Given the description of an element on the screen output the (x, y) to click on. 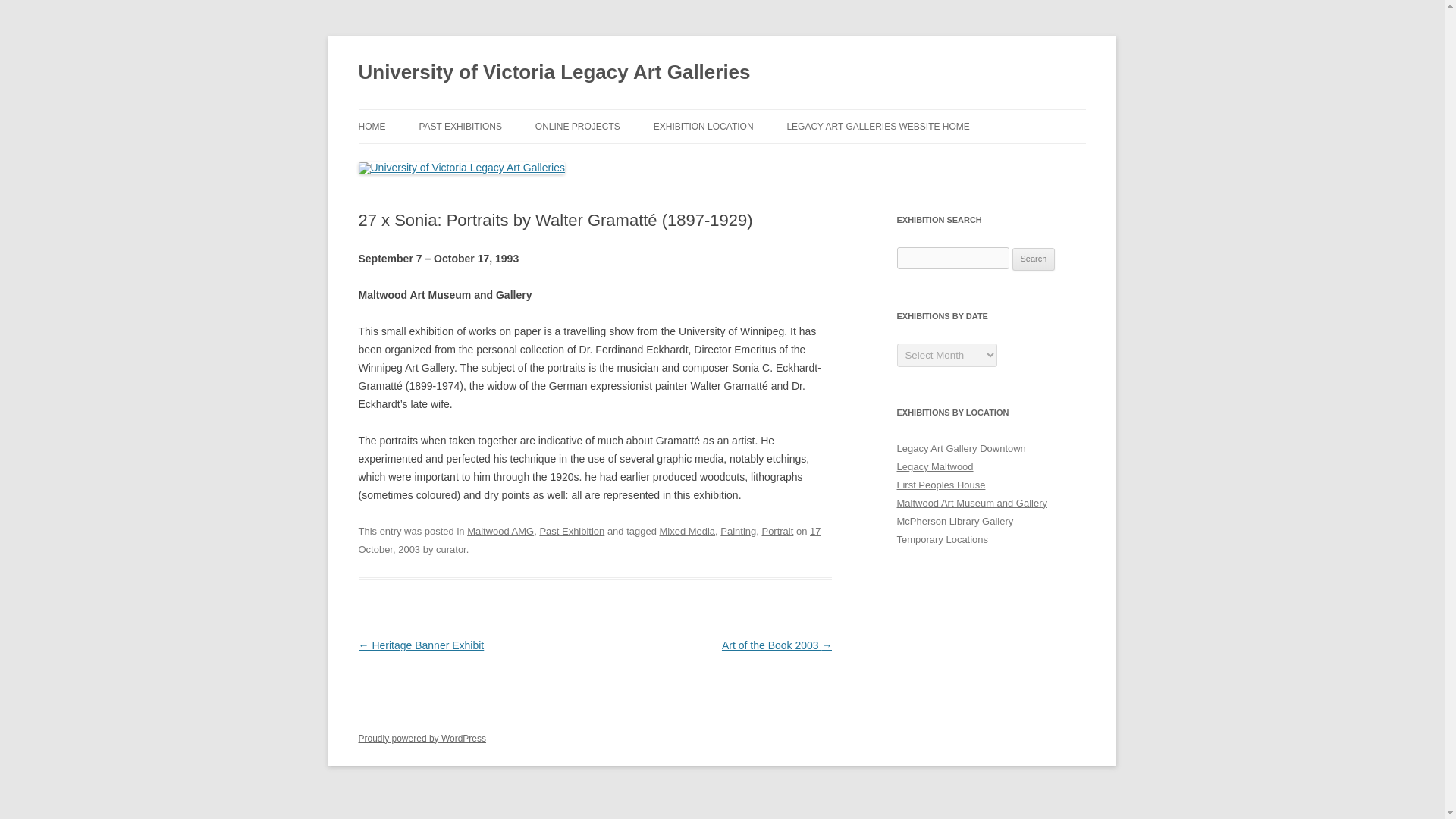
View all posts by curator (450, 549)
11:07 am (589, 540)
LEGACY ART GALLERIES WEBSITE HOME (877, 126)
University of Victoria Legacy Art Galleries (553, 72)
Legacy Art Gallery Downtown (960, 448)
Past Exhibition (571, 531)
First Peoples House (940, 484)
Painting (737, 531)
ONLINE PROJECTS (577, 126)
EXHIBITION LOCATION (703, 126)
Legacy Maltwood (934, 466)
McPherson Library Gallery (954, 521)
Portrait (777, 531)
Temporary Locations (942, 539)
